Given the description of an element on the screen output the (x, y) to click on. 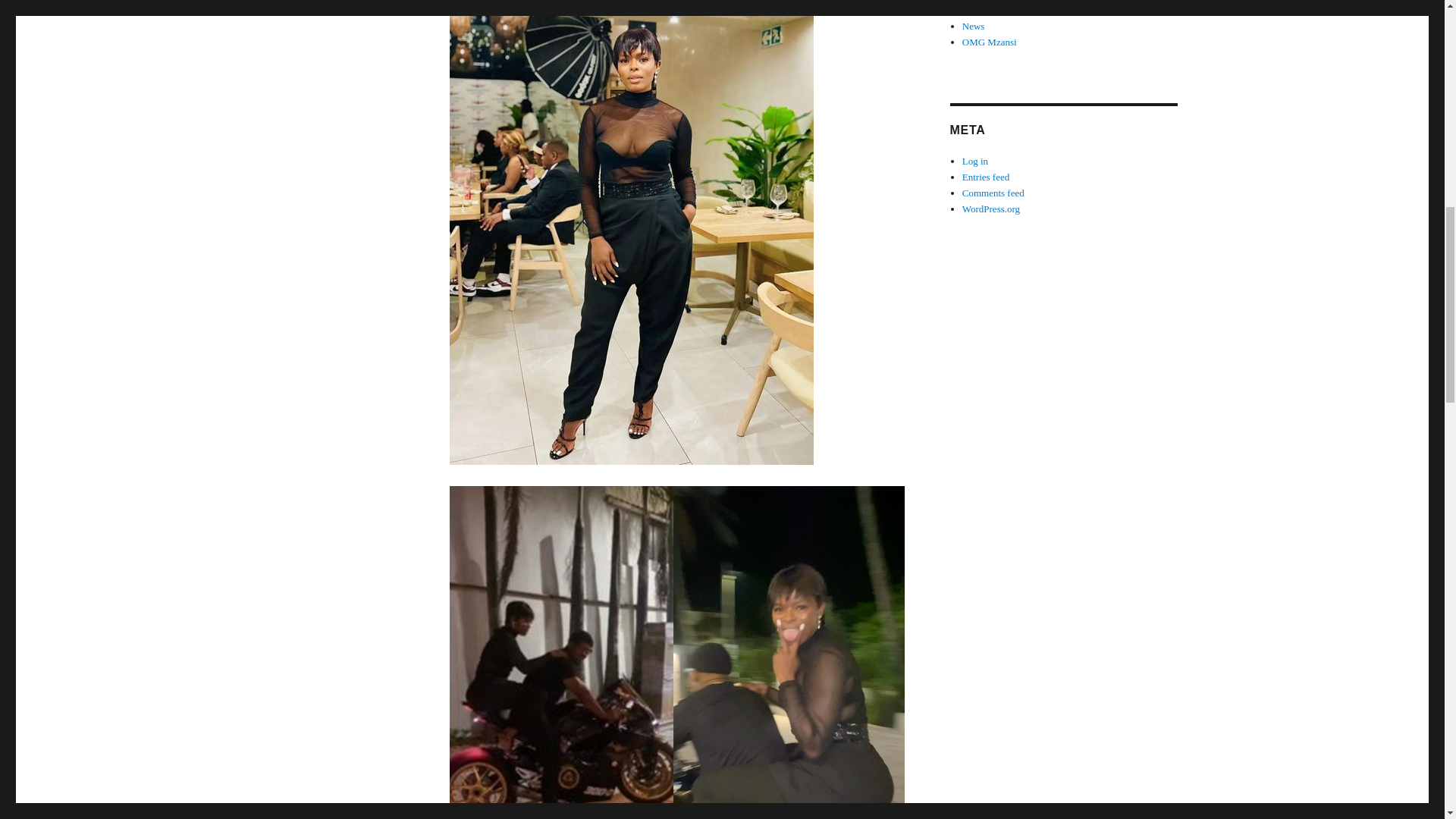
Entries feed (985, 176)
News (973, 25)
WordPress.org (991, 208)
Comments feed (993, 193)
OMG Mzansi (989, 41)
Nail art (976, 9)
Log in (975, 161)
